Given the description of an element on the screen output the (x, y) to click on. 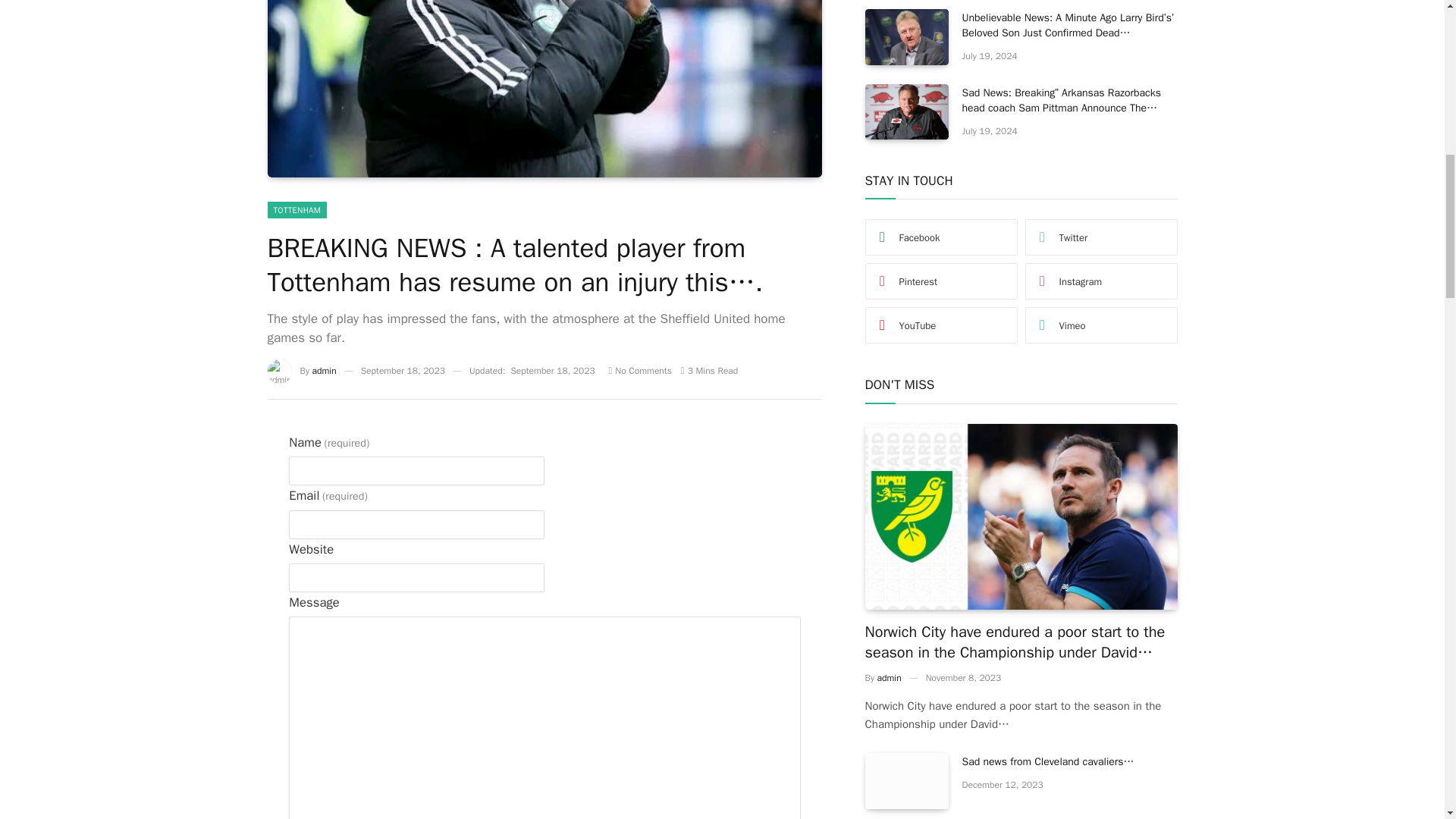
Posts by admin (324, 370)
